Given the description of an element on the screen output the (x, y) to click on. 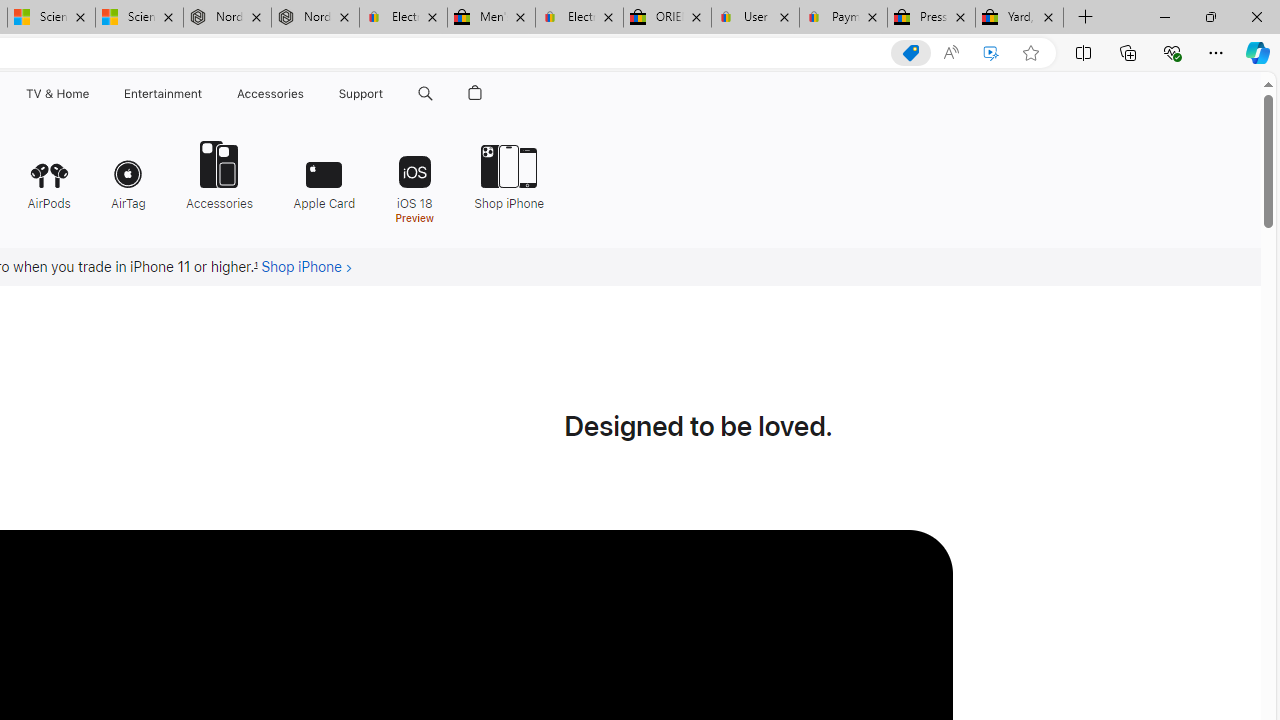
AutomationID: globalnav-bag (475, 93)
Nordace - Summer Adventures 2024 (315, 17)
Shop iPhone (501, 173)
Payments Terms of Use | eBay.com (843, 17)
iOS 18Preview (414, 179)
